Given the description of an element on the screen output the (x, y) to click on. 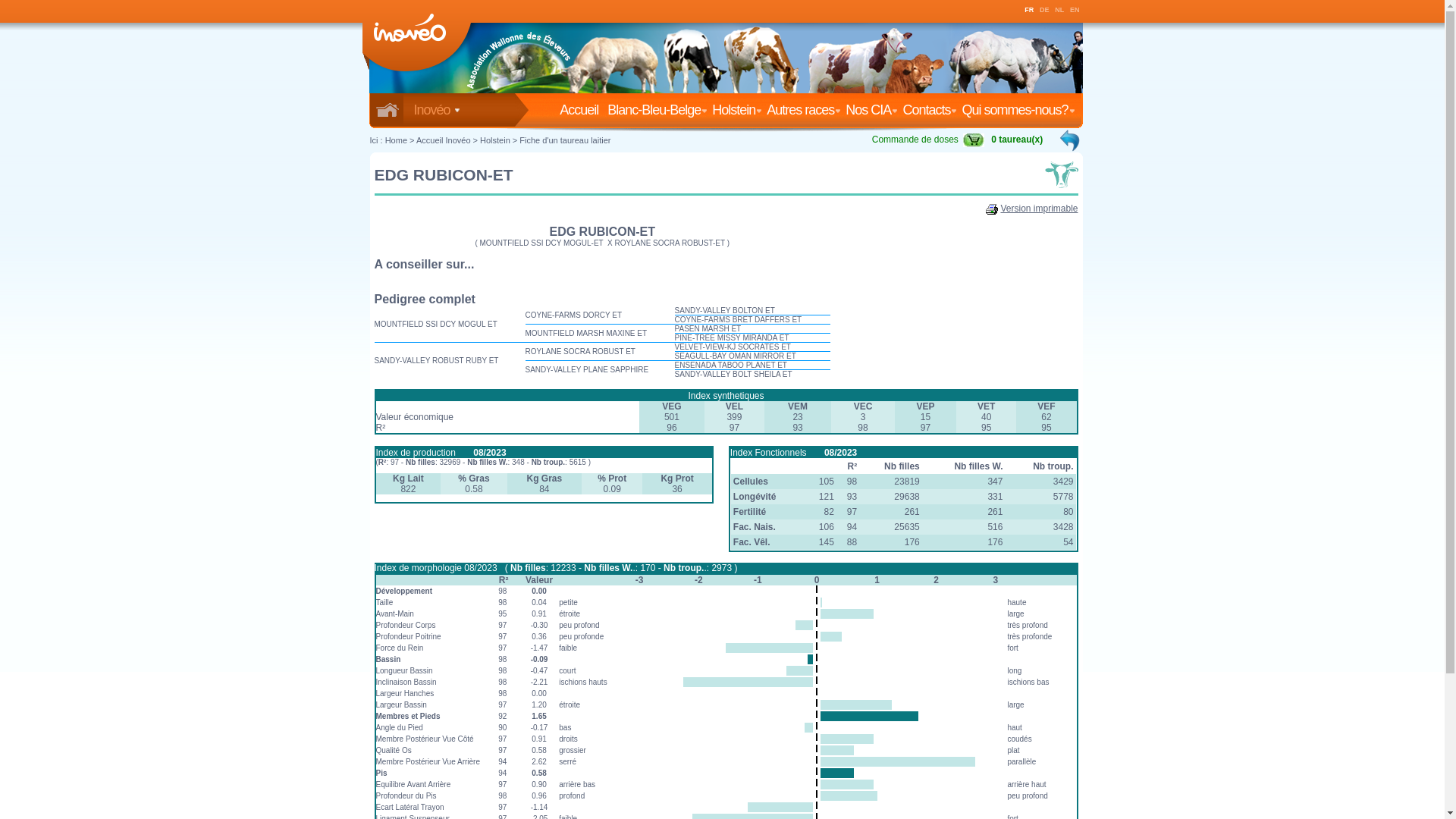
0 taureau(x) Element type: text (1016, 139)
Version imprimable Element type: text (1038, 208)
Accueil   Element type: text (581, 109)
NL Element type: text (1058, 9)
Blanc-Bleu-Belge Element type: text (658, 109)
Home Element type: text (396, 139)
FR Element type: text (1028, 9)
Contacts Element type: text (930, 109)
Qui sommes-nous? Element type: text (1018, 109)
Commande de doses Element type: text (930, 139)
EN Element type: text (1074, 9)
DE Element type: text (1044, 9)
Nos CIA Element type: text (872, 109)
Autres races Element type: text (804, 109)
Holstein Element type: text (737, 109)
